Given the description of an element on the screen output the (x, y) to click on. 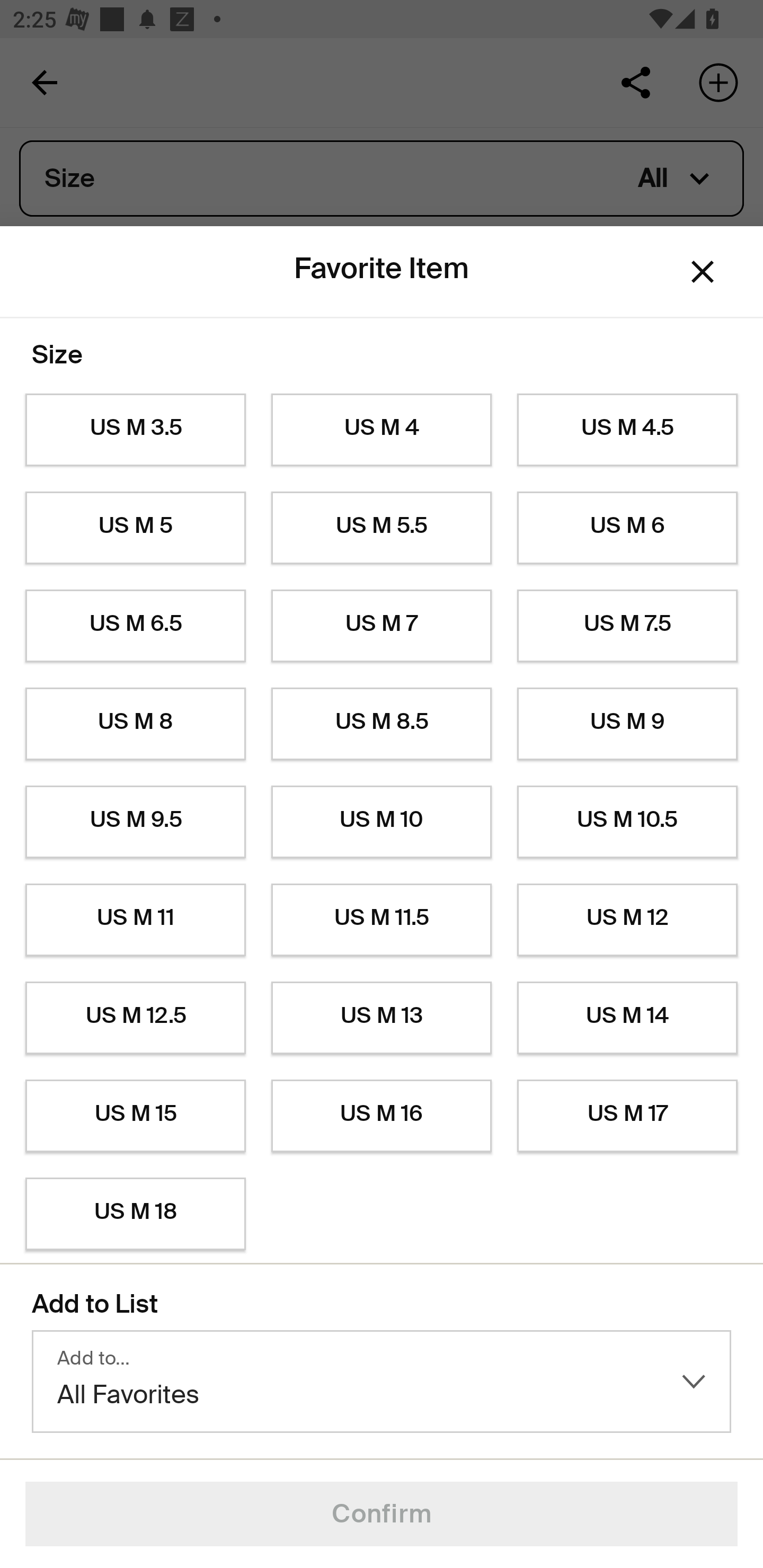
Dismiss (702, 271)
US M 3.5 (135, 430)
US M 4 (381, 430)
US M 4.5 (627, 430)
US M 5 (135, 527)
US M 5.5 (381, 527)
US M 6 (627, 527)
US M 6.5 (135, 626)
US M 7 (381, 626)
US M 7.5 (627, 626)
US M 8 (135, 724)
US M 8.5 (381, 724)
US M 9 (627, 724)
US M 9.5 (135, 822)
US M 10 (381, 822)
US M 10.5 (627, 822)
US M 11 (135, 919)
US M 11.5 (381, 919)
US M 12 (627, 919)
US M 12.5 (135, 1018)
US M 13 (381, 1018)
US M 14 (627, 1018)
US M 15 (135, 1116)
US M 16 (381, 1116)
US M 17 (627, 1116)
US M 18 (135, 1214)
Add to… All Favorites (381, 1381)
Confirm (381, 1513)
